Given the description of an element on the screen output the (x, y) to click on. 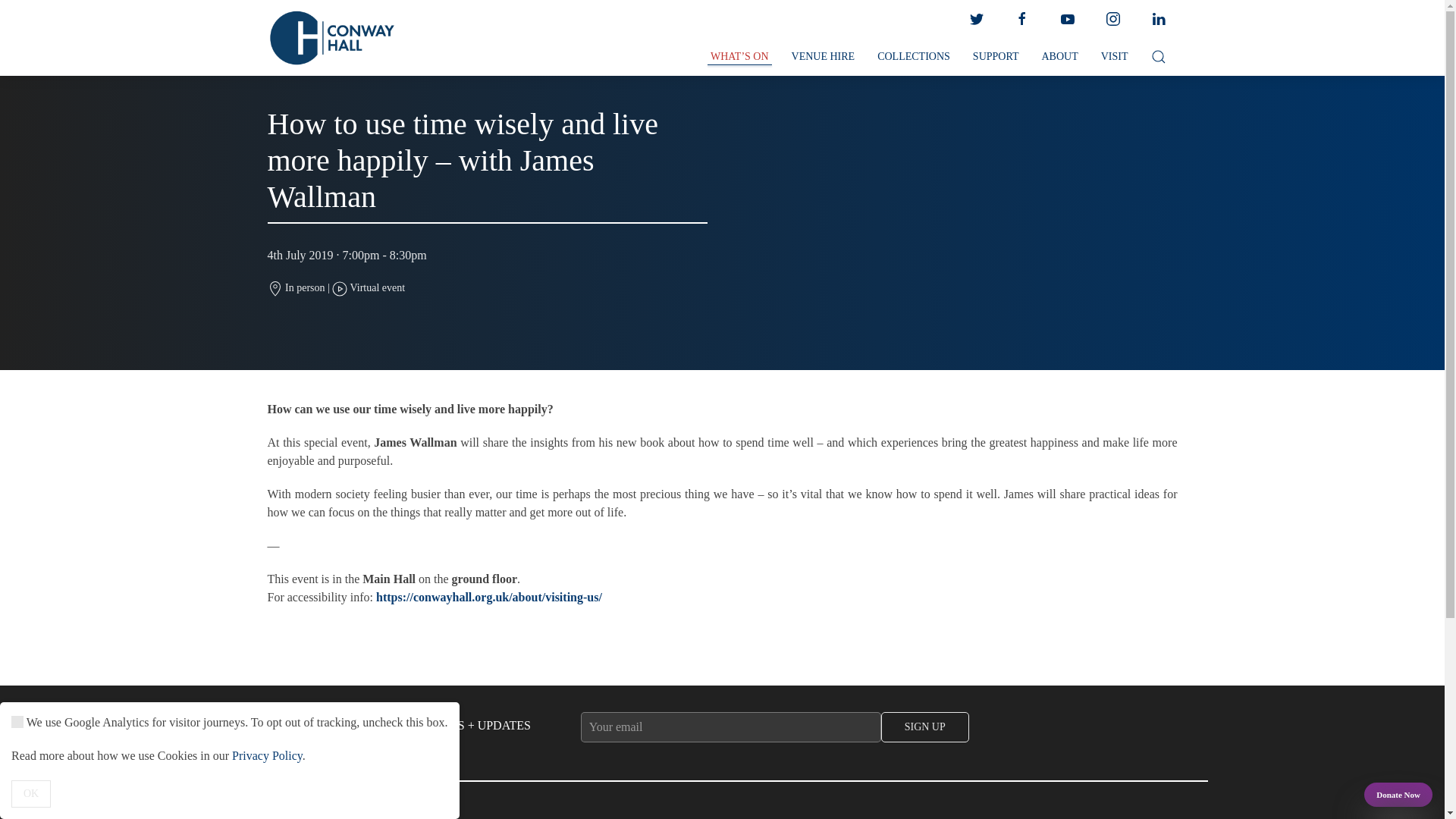
SUPPORT (995, 56)
Privacy Policy (266, 755)
ABOUT (1059, 56)
LinkedIn (1157, 19)
VENUE HIRE (823, 56)
VISIT (1114, 56)
OK (30, 793)
Facebook (1022, 19)
Sign Up (924, 726)
COLLECTIONS (913, 56)
